Given the description of an element on the screen output the (x, y) to click on. 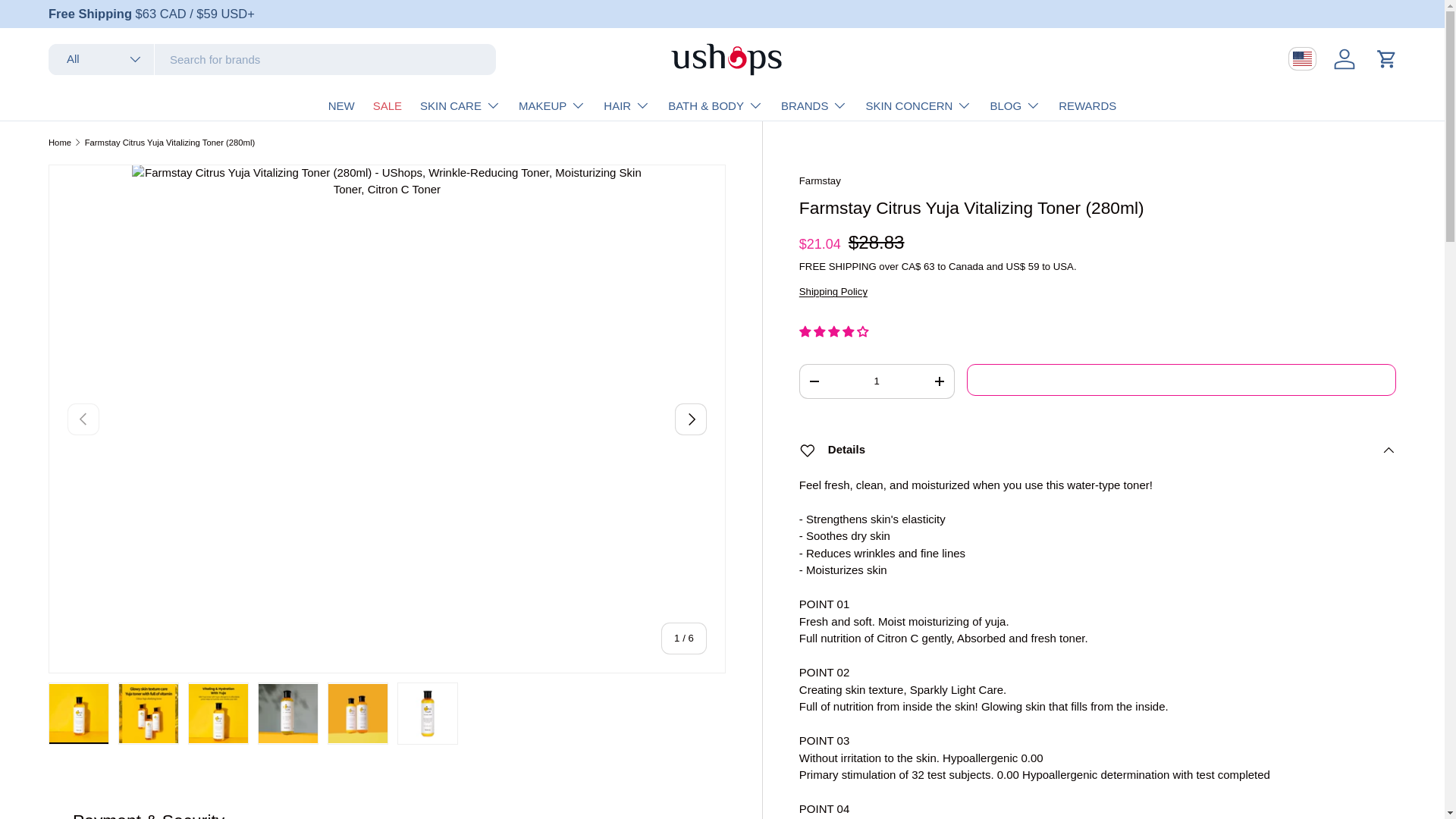
Cart (1386, 59)
Log in (1344, 59)
All (101, 59)
1 (876, 381)
Skip to content (68, 21)
SKIN CARE (460, 105)
SALE (386, 105)
NEW (342, 105)
